Given the description of an element on the screen output the (x, y) to click on. 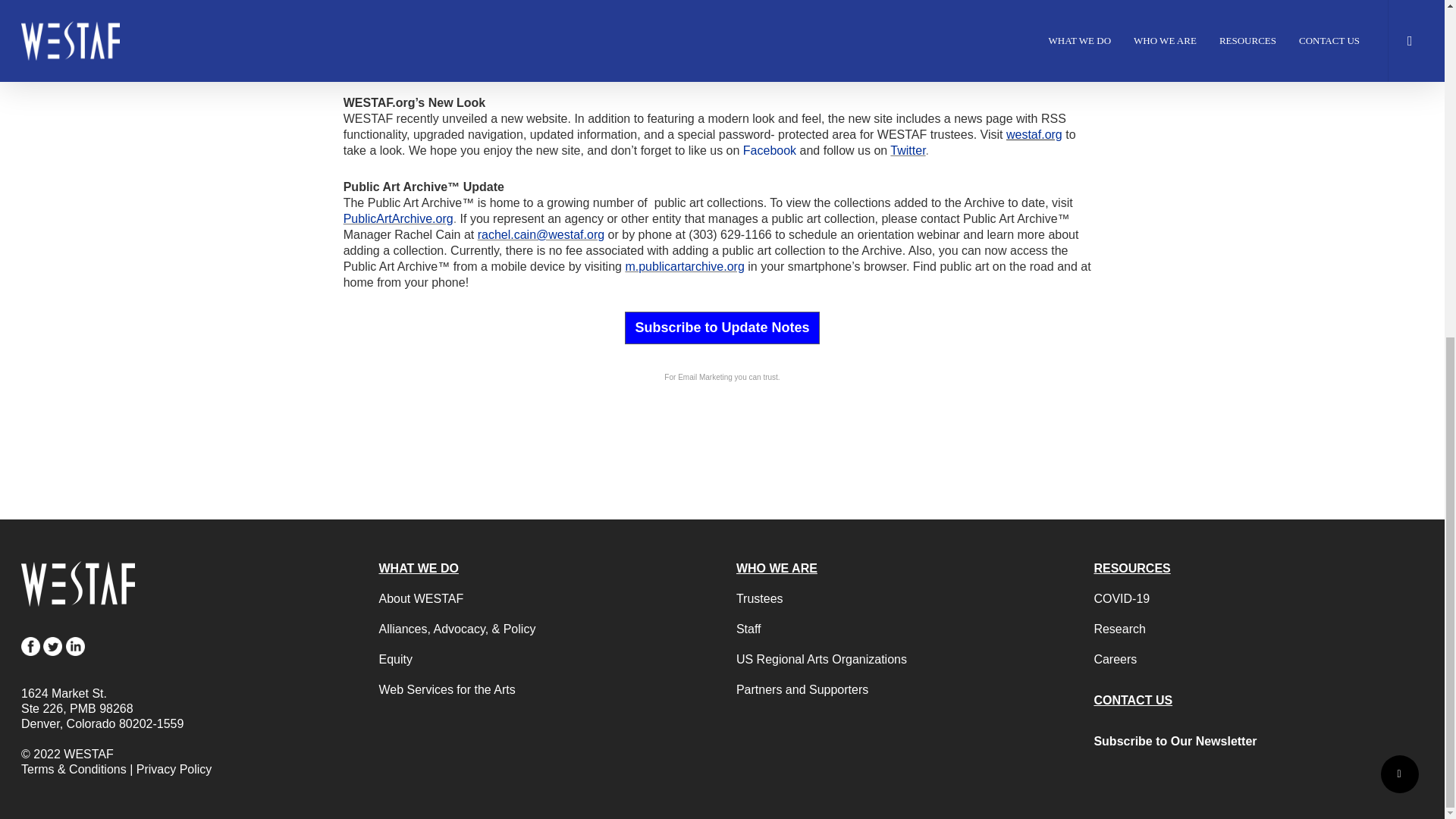
m.publicartarchive.org (684, 266)
Facebook (769, 150)
PublicArtArchive.org (397, 218)
Twitter (906, 150)
westaf.org (1034, 133)
